Given the description of an element on the screen output the (x, y) to click on. 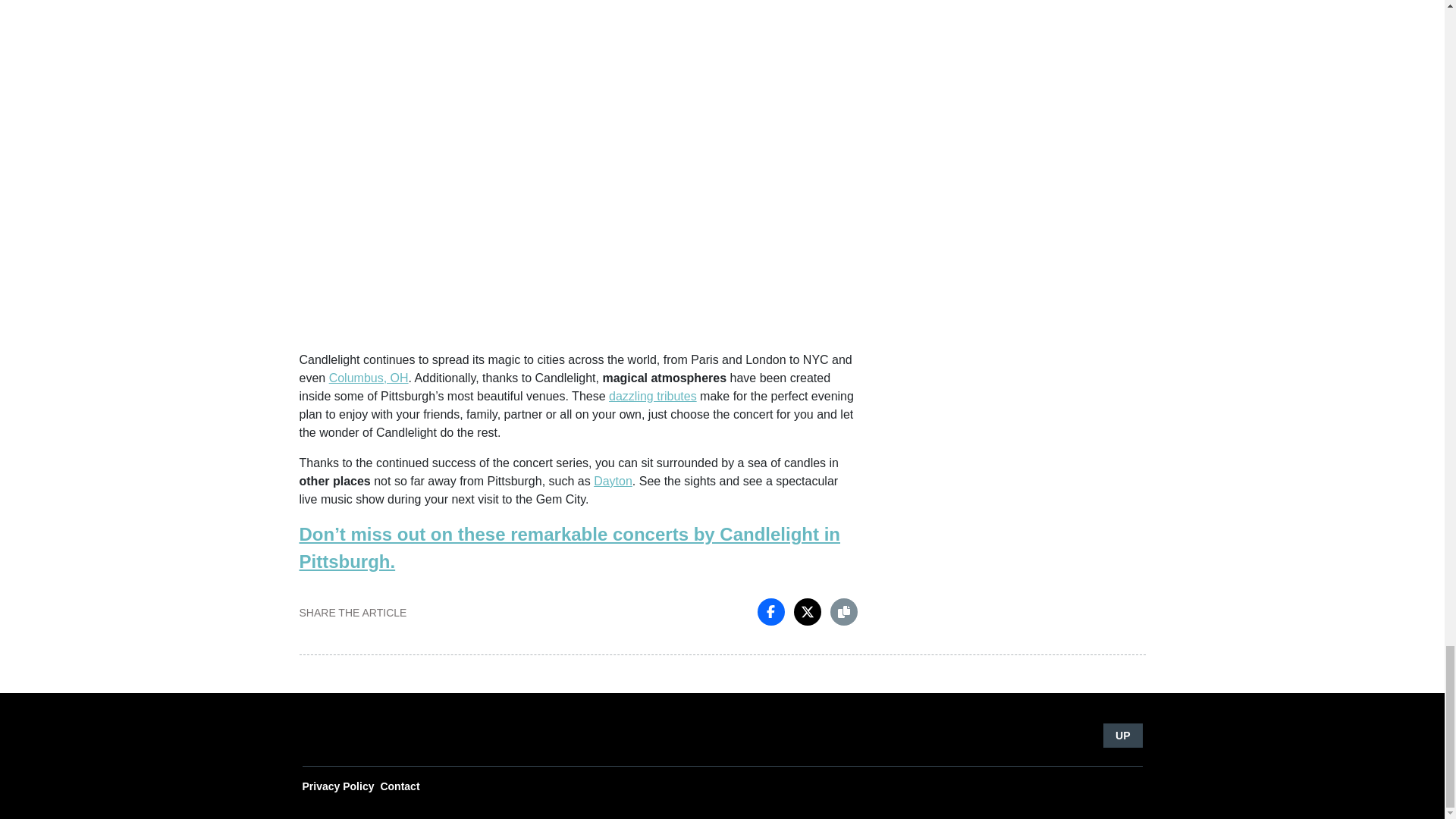
dazzling tributes (652, 395)
Columbus, OH (369, 377)
Dayton (612, 481)
